Given the description of an element on the screen output the (x, y) to click on. 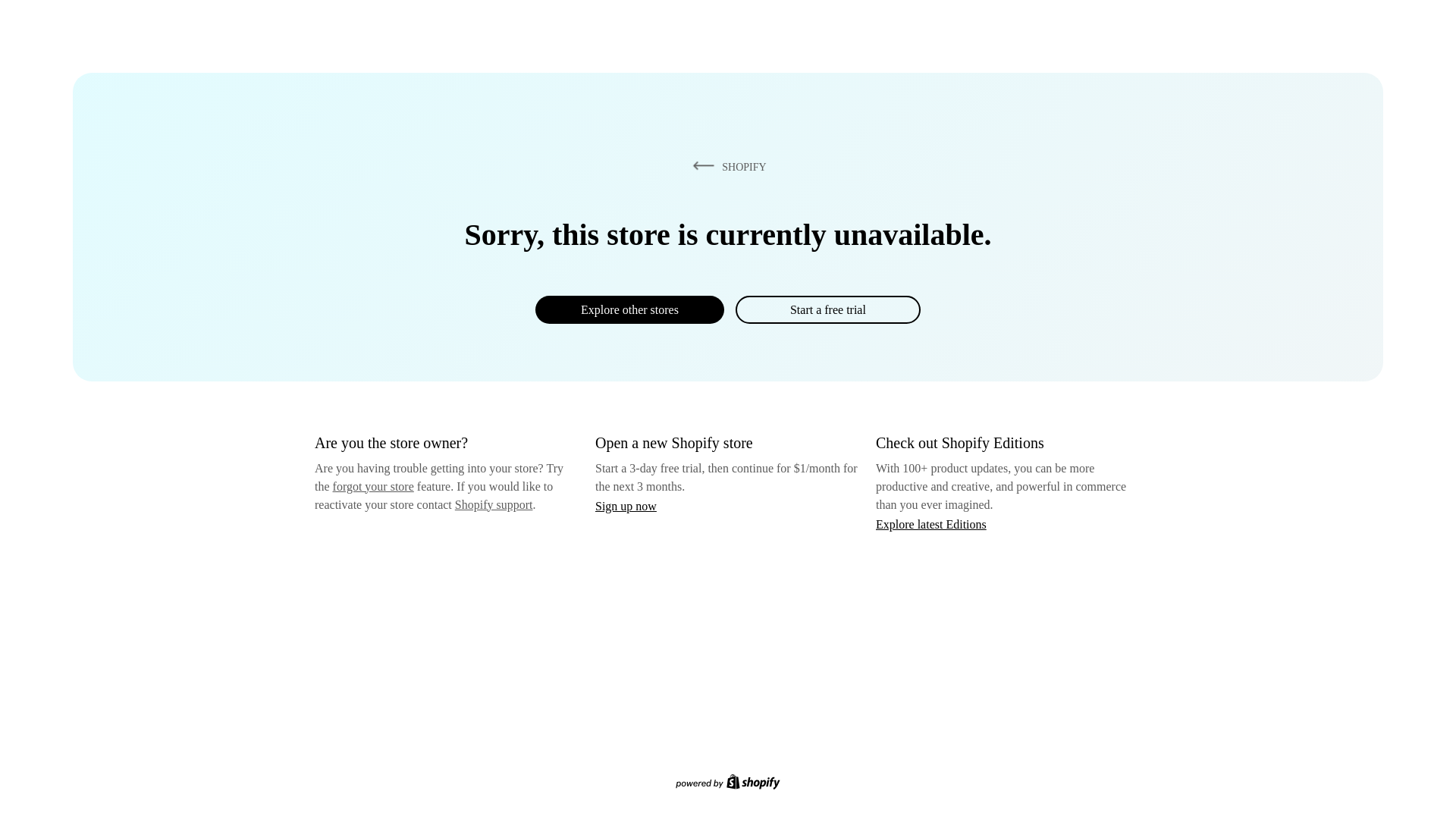
Explore other stores (629, 309)
forgot your store (373, 486)
Explore latest Editions (931, 523)
Sign up now (625, 505)
SHOPIFY (726, 166)
Start a free trial (827, 309)
Shopify support (493, 504)
